Given the description of an element on the screen output the (x, y) to click on. 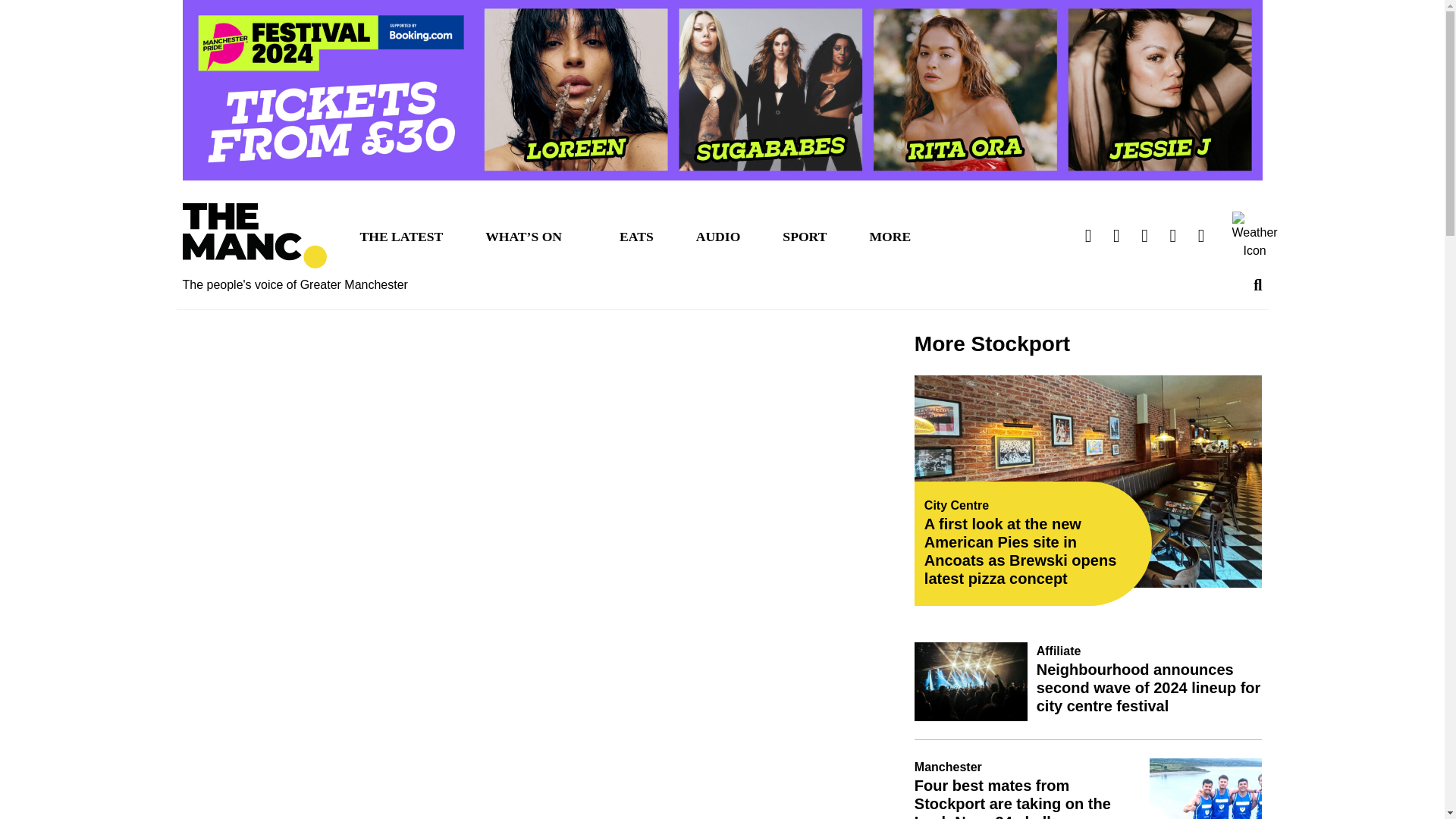
MORE (890, 235)
The Manc (254, 236)
THE LATEST (400, 235)
EATS (635, 235)
AUDIO (718, 235)
SPORT (804, 235)
